Given the description of an element on the screen output the (x, y) to click on. 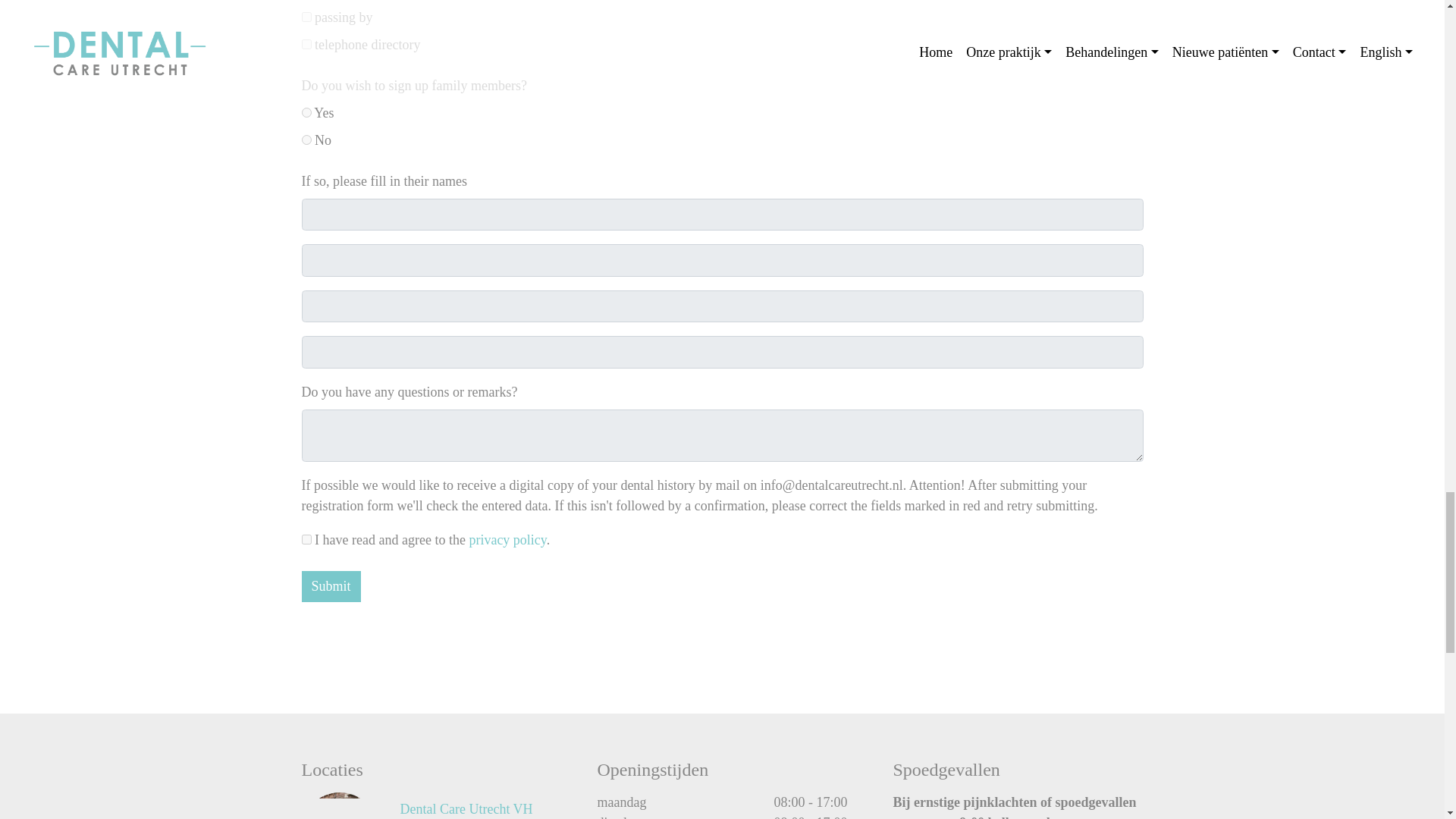
Dental Care Utrecht VH (339, 805)
privacy policy (507, 539)
Dental Care Utrecht VH (466, 808)
